Given the description of an element on the screen output the (x, y) to click on. 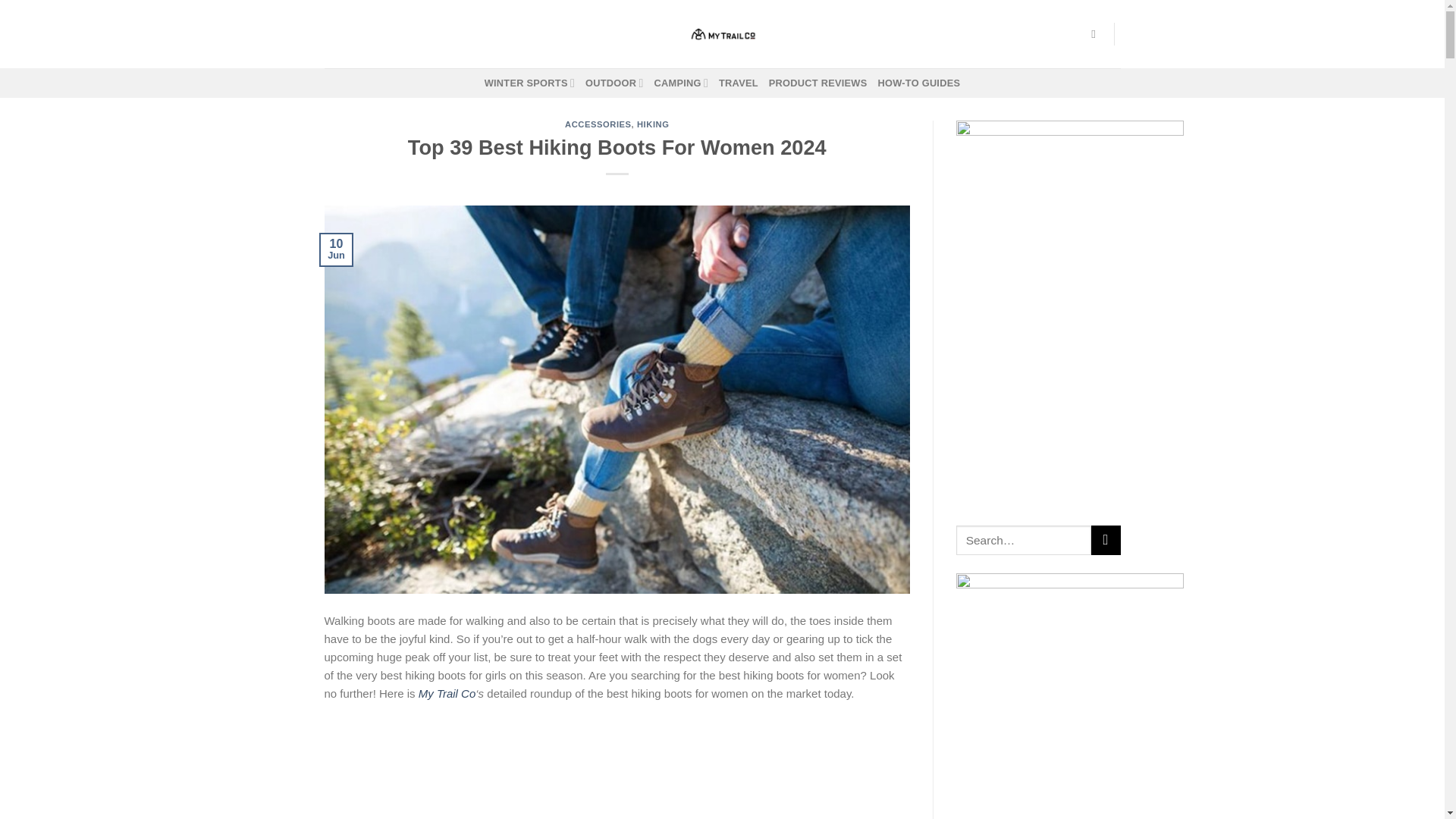
PRODUCT REVIEWS (817, 83)
My Trail Co (447, 693)
OUTDOOR (614, 82)
ACCESSORIES (597, 123)
WINTER SPORTS (529, 82)
CAMPING (680, 82)
HIKING (653, 123)
TRAVEL (738, 83)
HOW-TO GUIDES (918, 83)
